Given the description of an element on the screen output the (x, y) to click on. 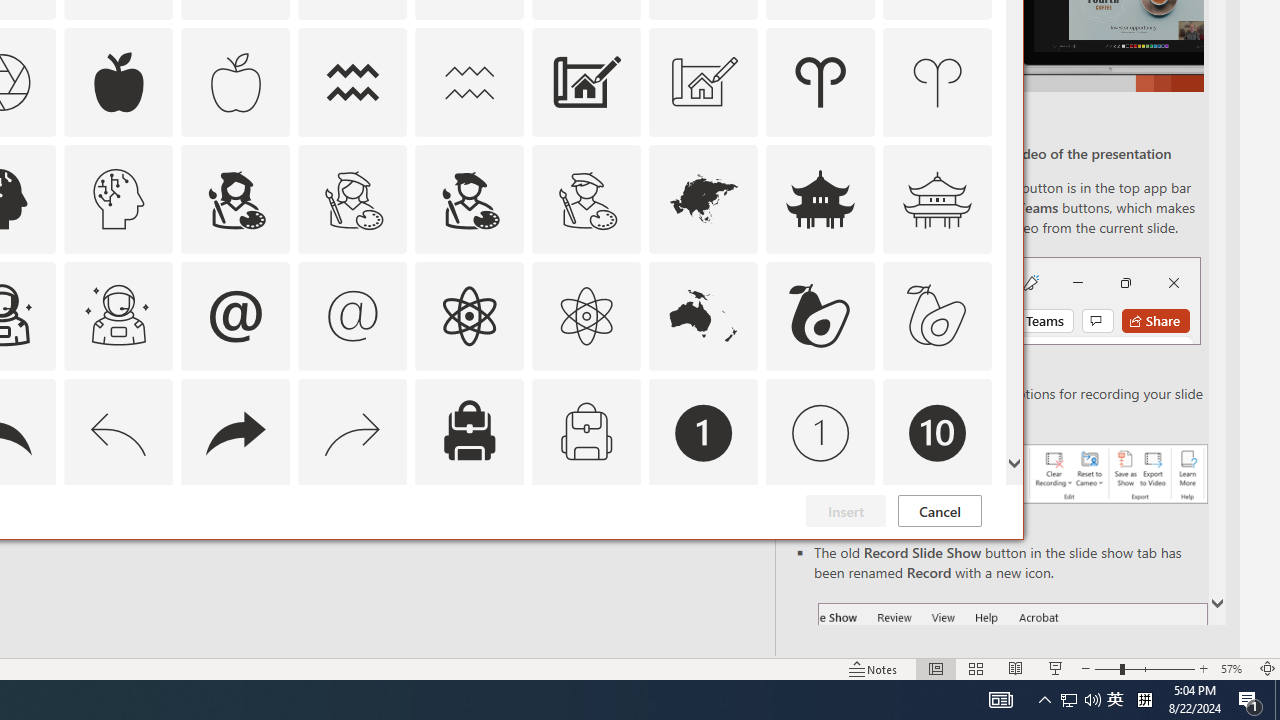
AutomationID: Icons_ArtistMale (469, 198)
AutomationID: Icons_Back_RTL (235, 432)
AutomationID: Icons_Australia (703, 316)
AutomationID: Icons_Aquarius_M (469, 82)
AutomationID: Icons_Badge9 (820, 550)
AutomationID: Icons_Badge8_M (703, 550)
